Given the description of an element on the screen output the (x, y) to click on. 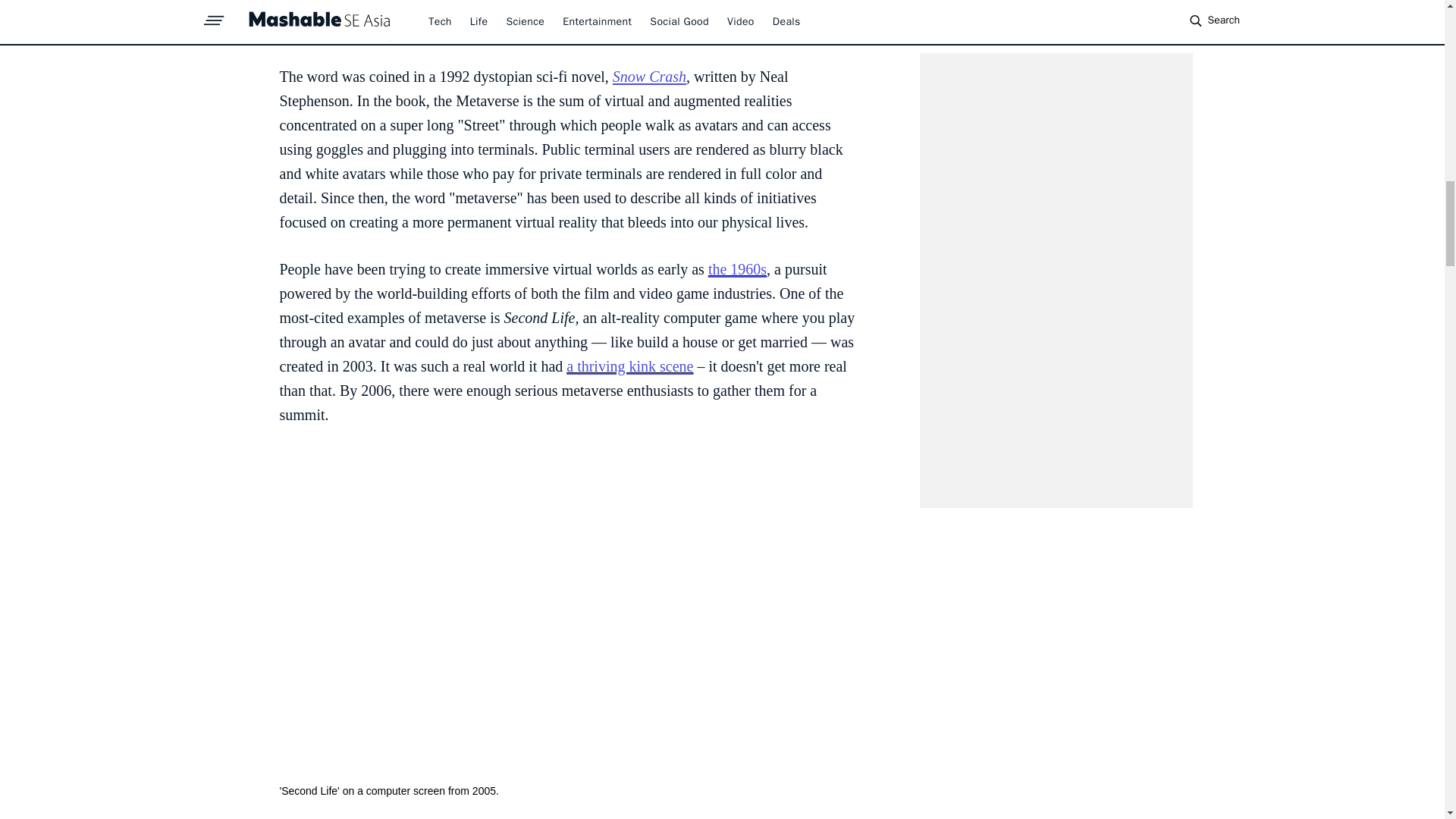
a thriving kink scene (629, 365)
Snow Crash (648, 76)
the 1960s (737, 269)
